Given the description of an element on the screen output the (x, y) to click on. 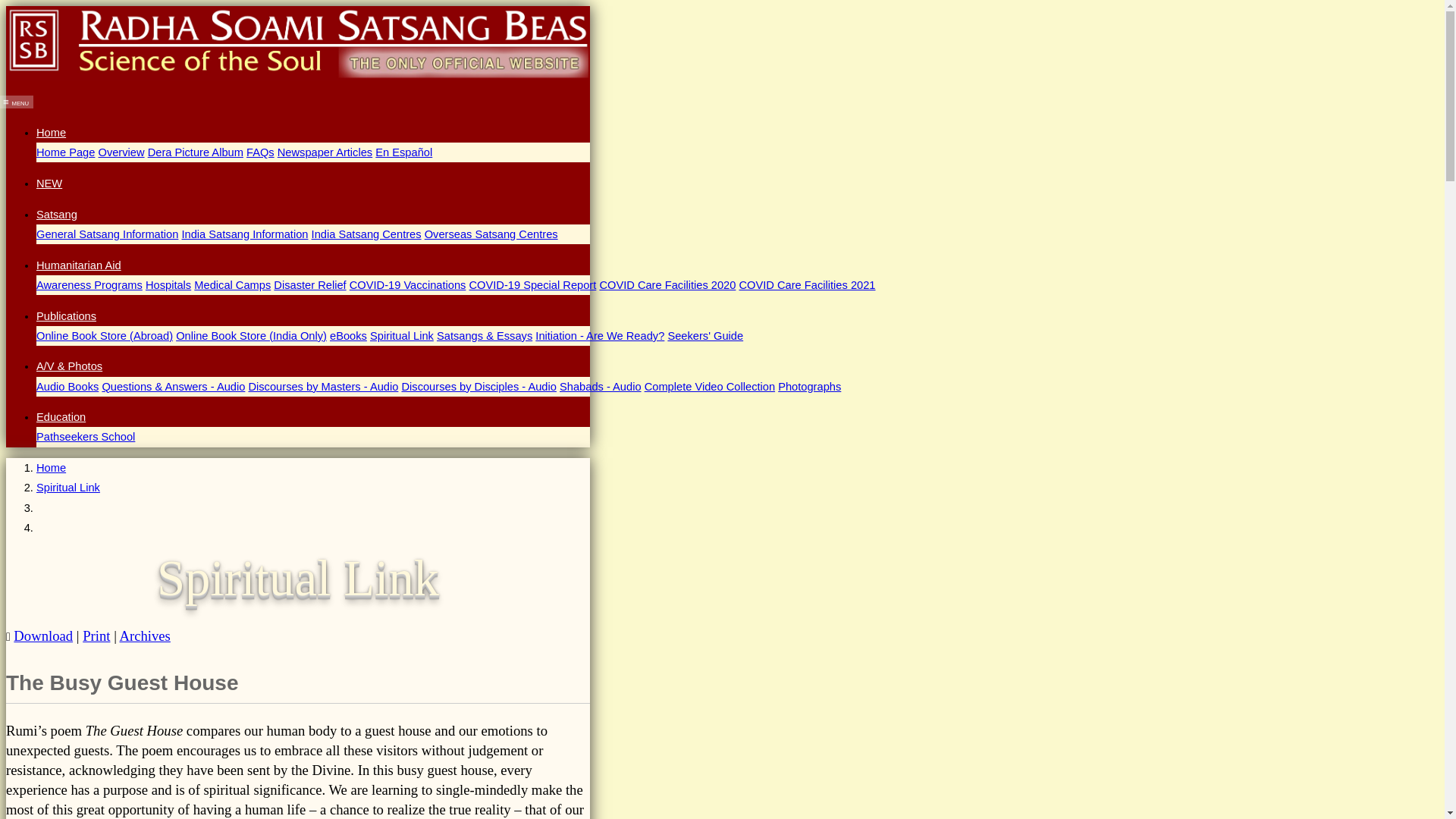
Dera Picture Album (195, 152)
NEW (49, 183)
Seekers' Guide (704, 336)
India Satsang Information (243, 234)
Discourses by Disciples - Audio (478, 386)
Newspaper Articles (325, 152)
Education (60, 417)
COVID-19 Special Report (531, 285)
Discourses by Masters - Audio (322, 386)
Hospitals (167, 285)
Initiation - Are We Ready? (599, 336)
India Satsang Centres (366, 234)
Disaster Relief (309, 285)
FAQs (260, 152)
COVID Care Facilities 2021 (806, 285)
